Given the description of an element on the screen output the (x, y) to click on. 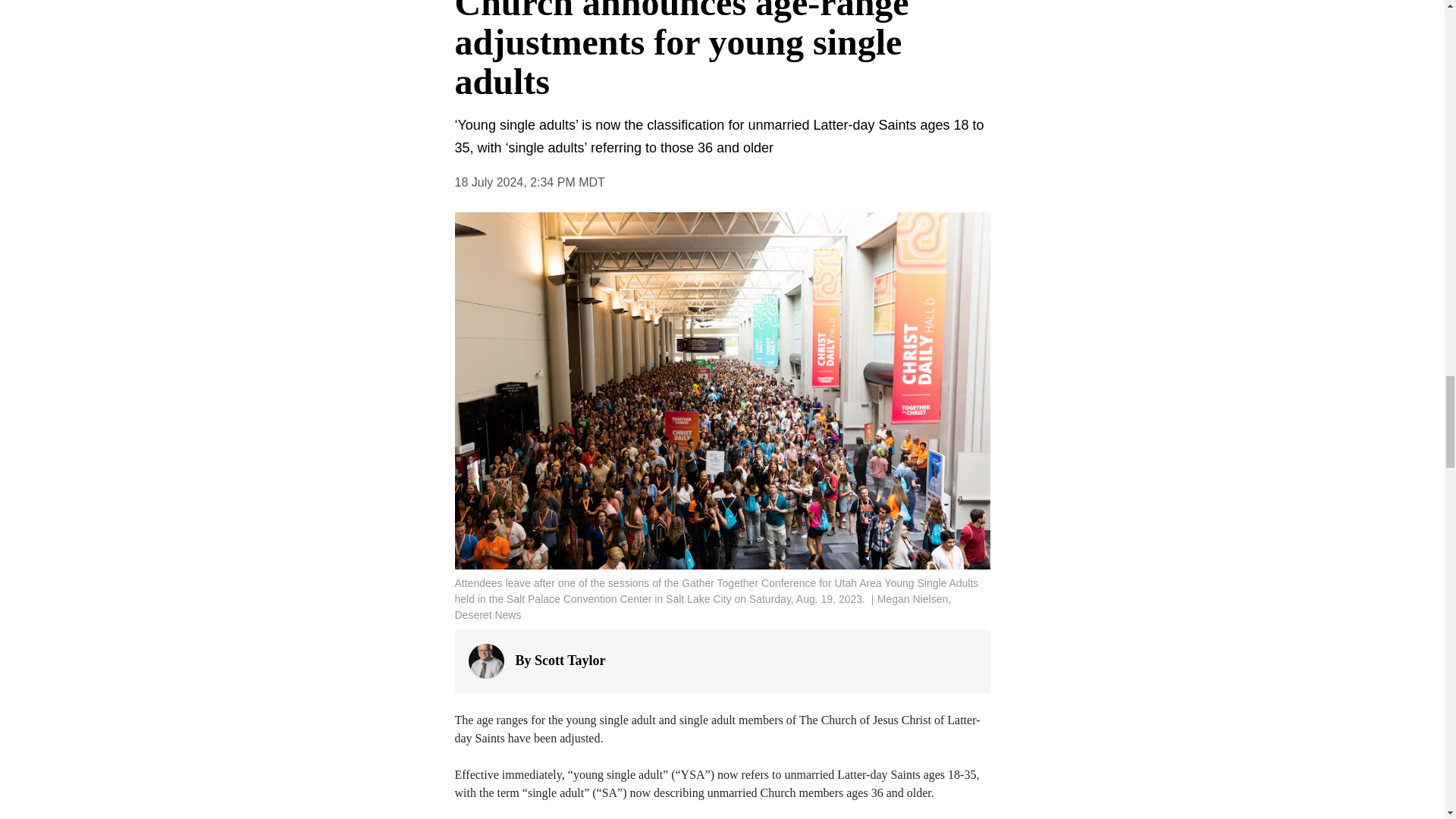
Scott Taylor (569, 660)
